Given the description of an element on the screen output the (x, y) to click on. 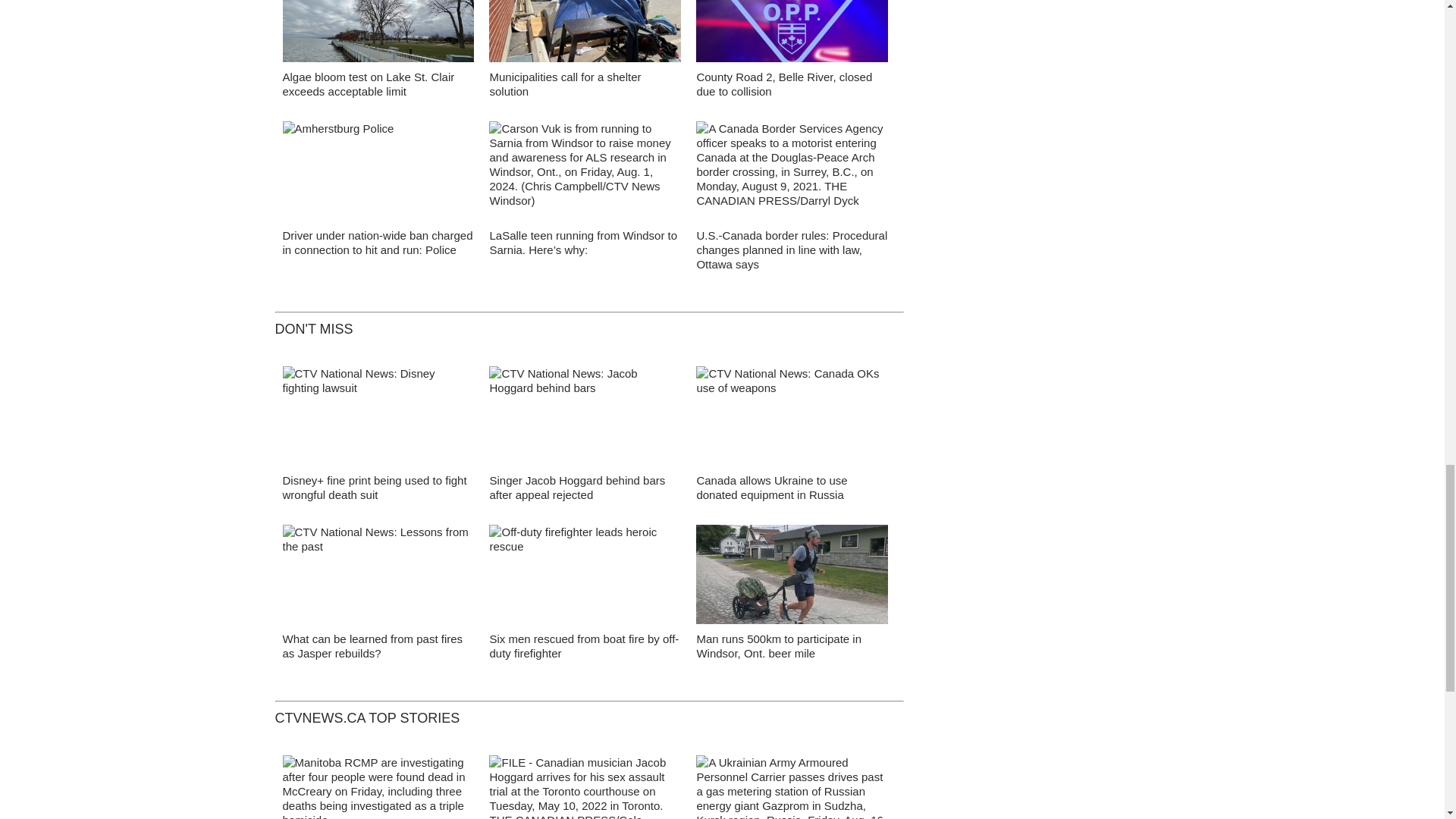
CHATHAM HOMELESS CAMP (585, 35)
Carson Vuk (585, 175)
Amherstburg Police (378, 175)
Border rules (791, 175)
Lake St. Clair (378, 35)
OPP (791, 35)
Municipalities call for a shelter solution (564, 83)
County Road 2, Belle River, closed due to collision (783, 83)
Algae bloom test on Lake St. Clair exceeds acceptable limit (368, 83)
